Given the description of an element on the screen output the (x, y) to click on. 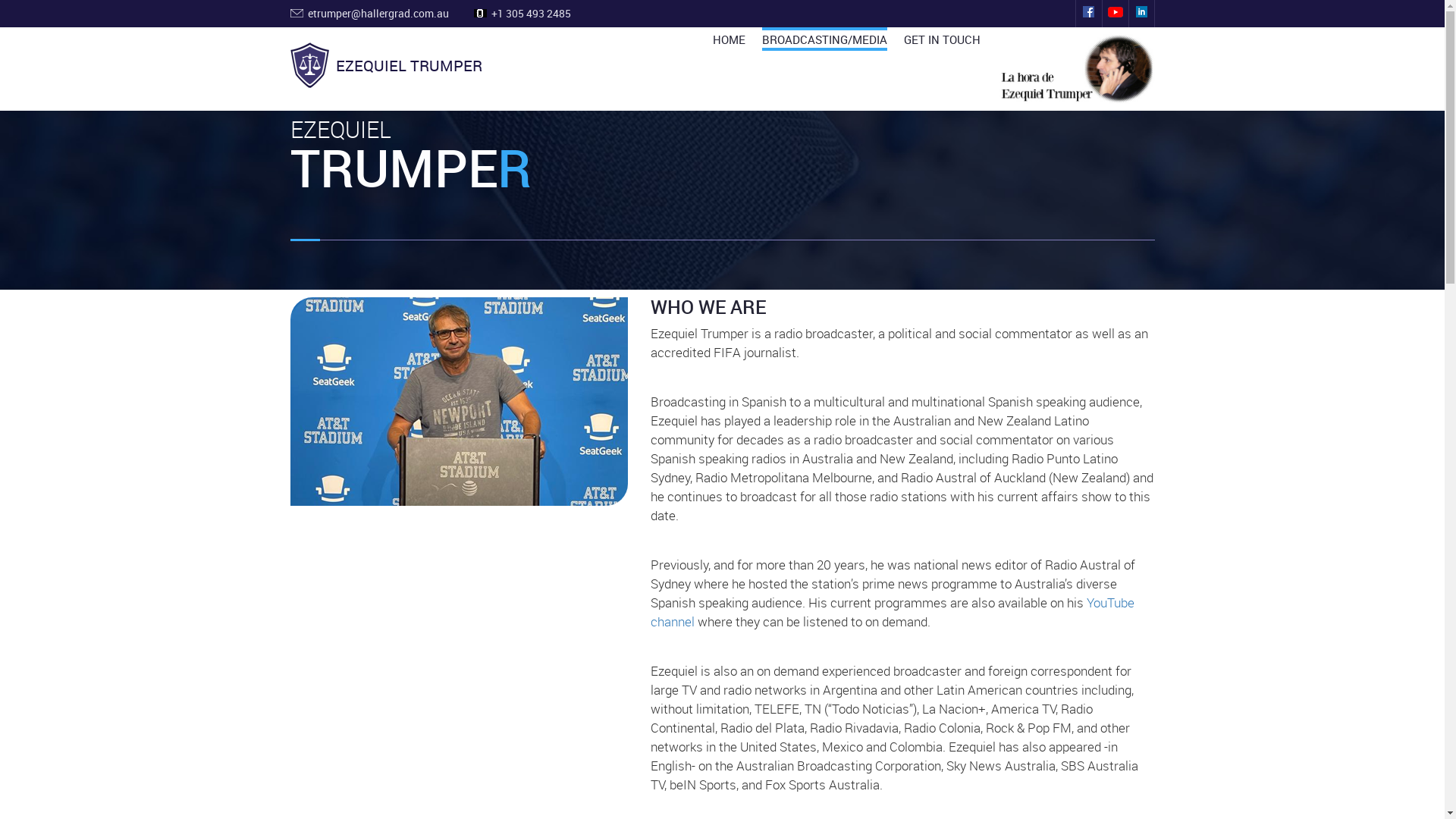
YouTube channel Element type: text (892, 611)
BROADCASTING/MEDIA Element type: text (823, 38)
GET IN TOUCH Element type: text (941, 38)
etrumper@hallergrad.com.au Element type: text (377, 13)
EZEQUIEL TRUMPER Element type: text (385, 64)
HOME Element type: text (728, 38)
